Given the description of an element on the screen output the (x, y) to click on. 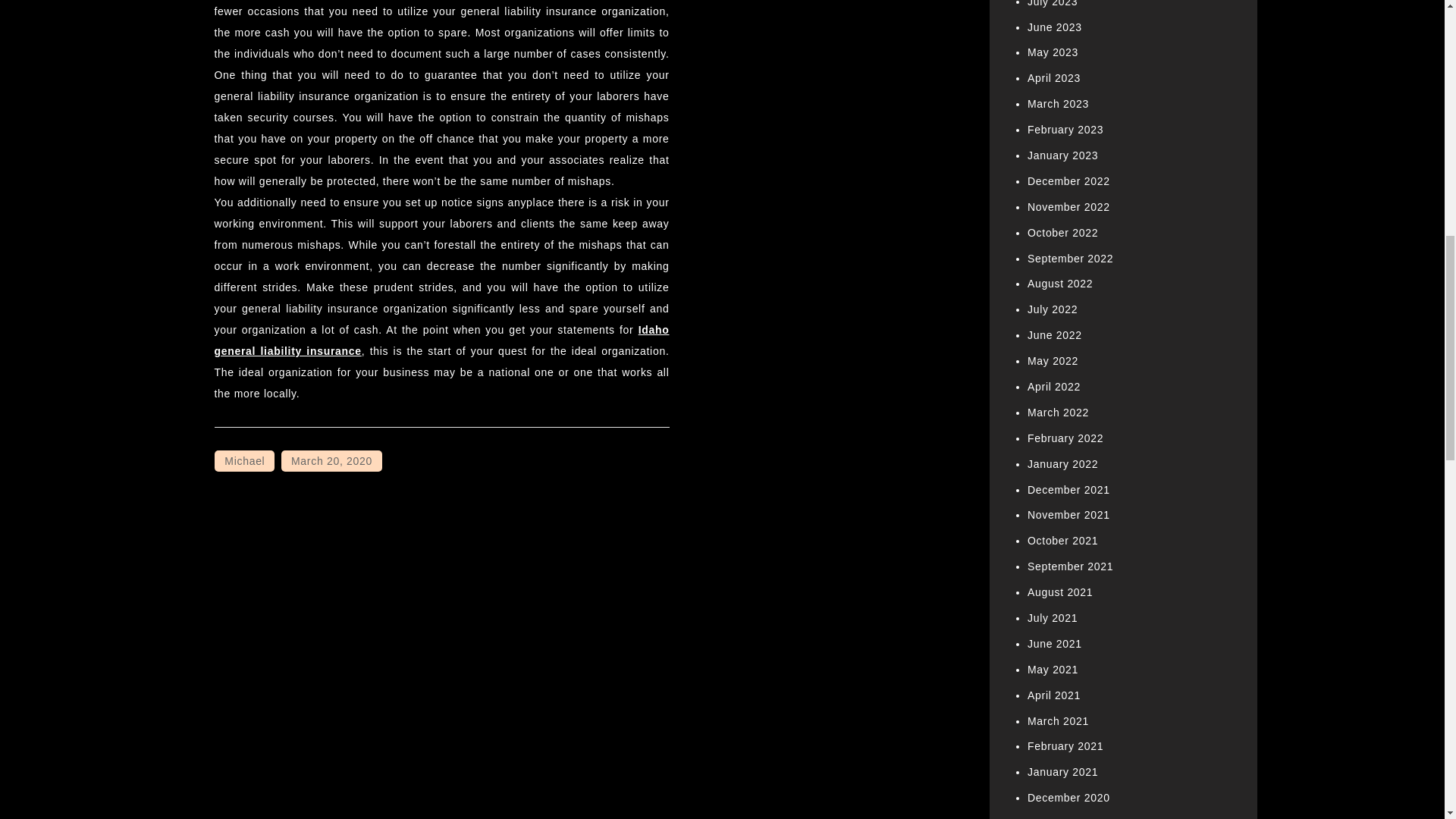
April 2022 (1053, 386)
Idaho general liability insurance (441, 340)
February 2023 (1065, 129)
March 2023 (1058, 103)
January 2023 (1062, 155)
June 2023 (1054, 27)
May 2023 (1052, 51)
December 2022 (1068, 181)
November 2022 (1068, 206)
March 20, 2020 (331, 460)
Michael (244, 460)
June 2022 (1054, 335)
September 2022 (1070, 258)
May 2022 (1052, 360)
April 2023 (1053, 78)
